Given the description of an element on the screen output the (x, y) to click on. 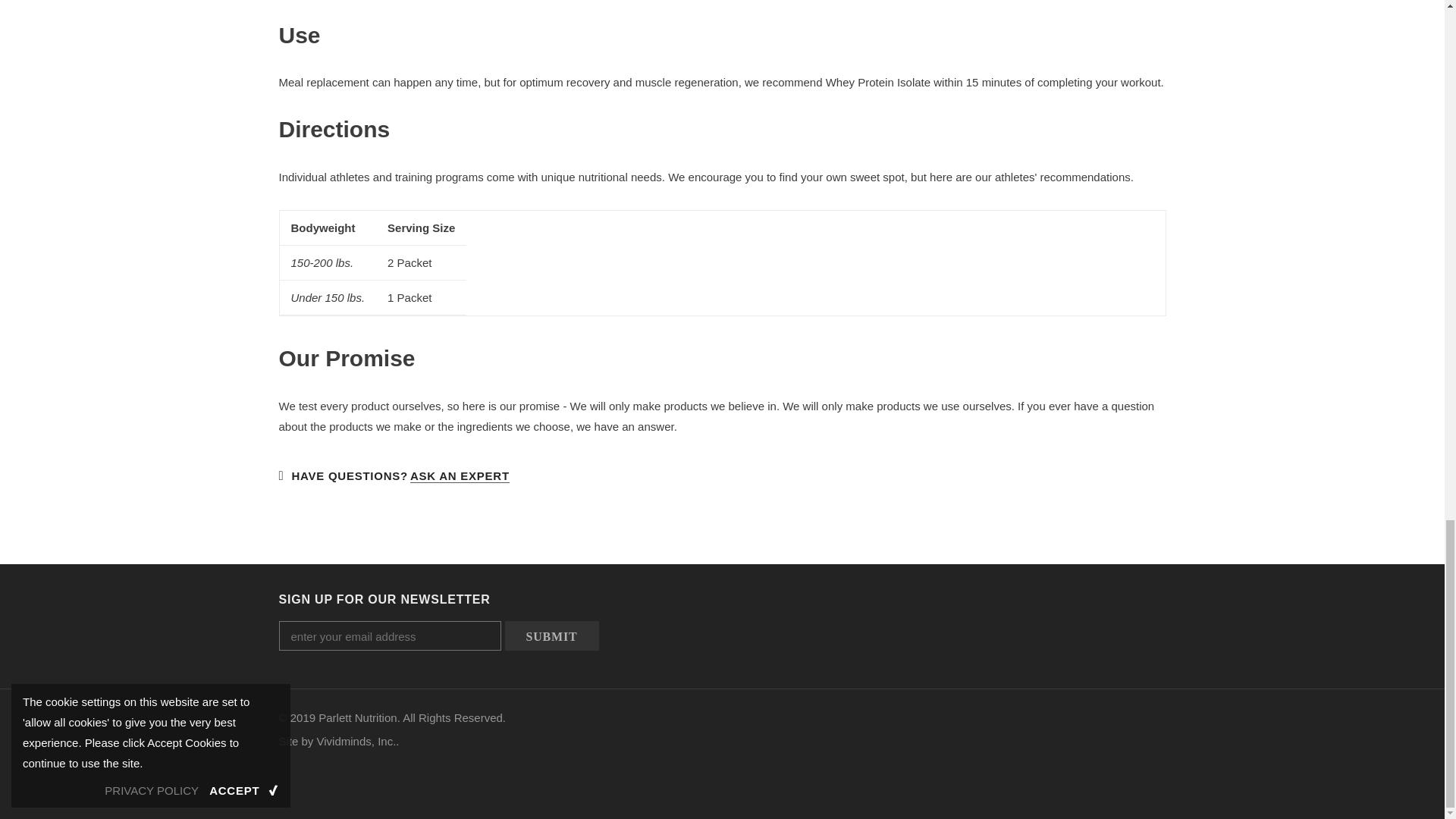
Submit (551, 635)
